Given the description of an element on the screen output the (x, y) to click on. 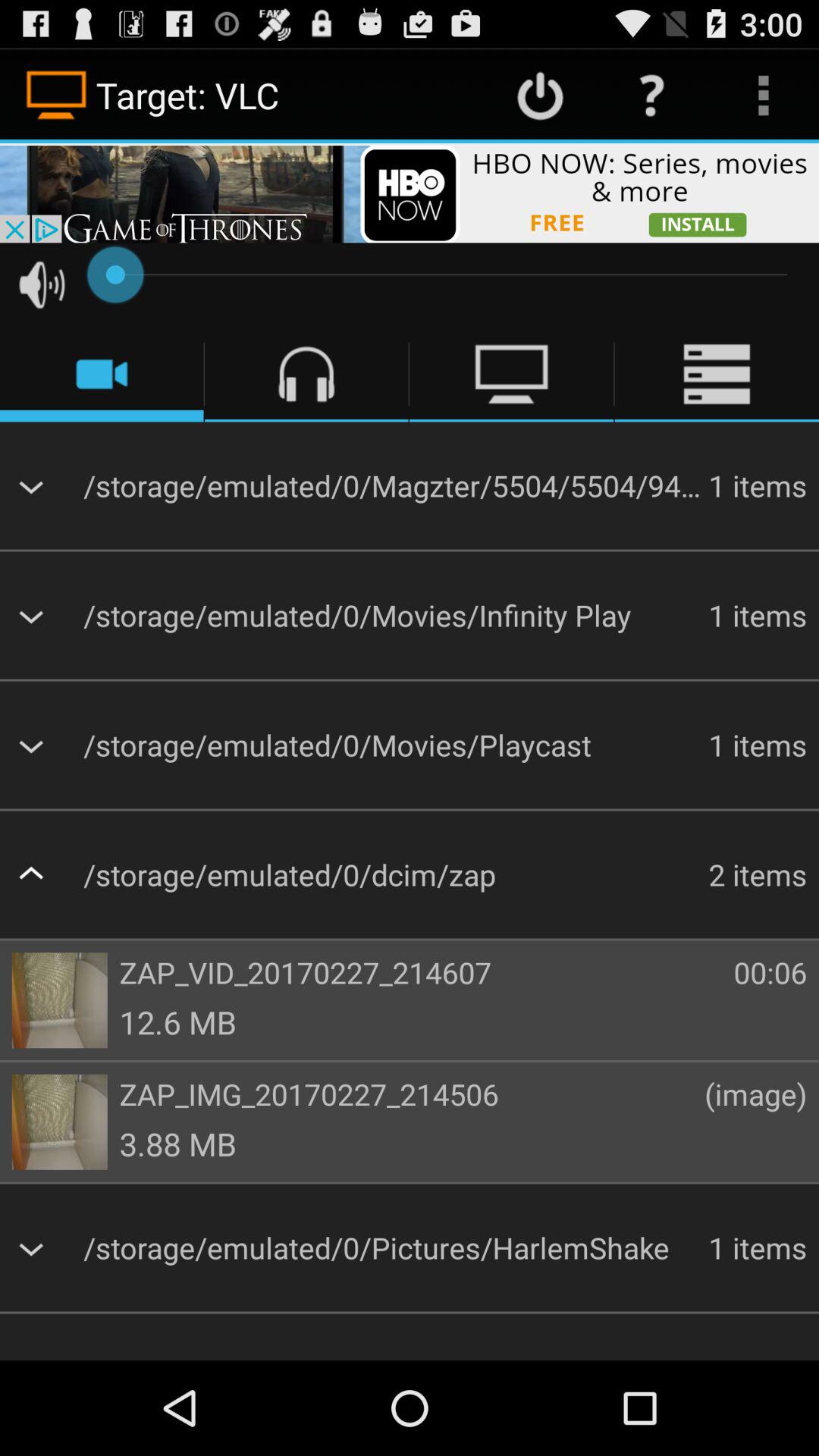
enable/disable sound (41, 284)
